Given the description of an element on the screen output the (x, y) to click on. 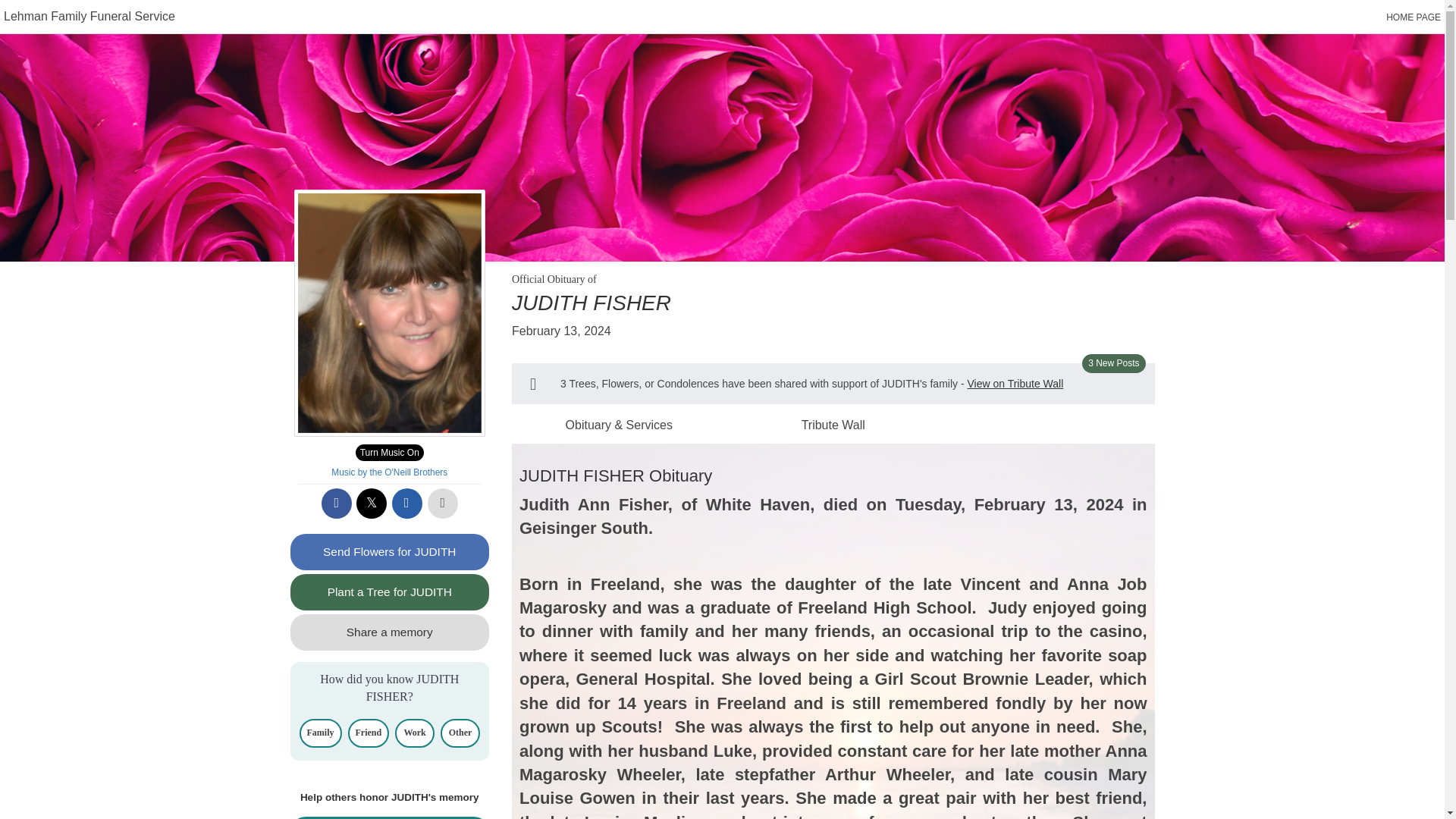
Plant a Tree for JUDITH (389, 592)
HOME PAGE (1413, 17)
Music by the O'Neill Brothers (388, 471)
Send Flowers for JUDITH (389, 551)
Share Obituary (389, 817)
Printable copy (443, 503)
Lehman Family Funeral Service (89, 15)
Share on X (371, 503)
Share via email (406, 503)
Share to Facebook (336, 503)
Turn Music On (389, 452)
Share a memory (389, 632)
View on Tribute Wall (1014, 383)
